Given the description of an element on the screen output the (x, y) to click on. 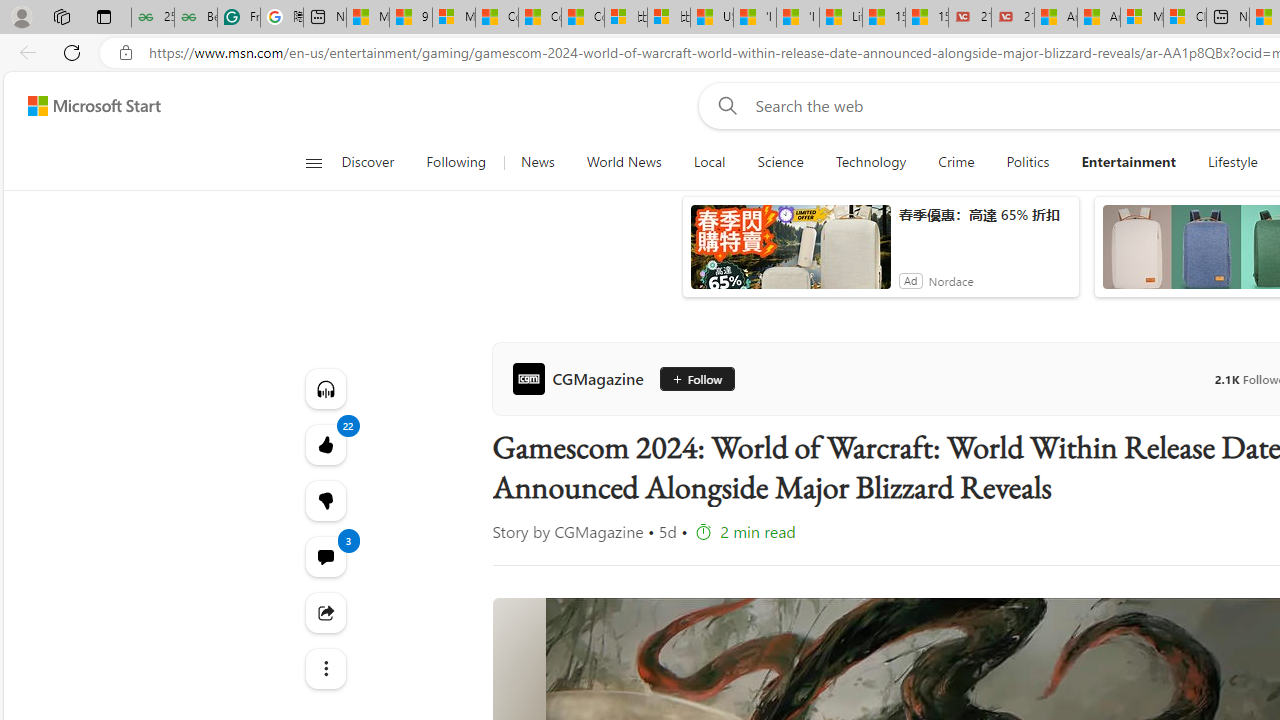
Free AI Writing Assistance for Students | Grammarly (238, 17)
Lifestyle - MSN (840, 17)
USA TODAY - MSN (712, 17)
Listen to this article (324, 388)
Best SSL Certificates Provider in India - GeeksforGeeks (196, 17)
